Given the description of an element on the screen output the (x, y) to click on. 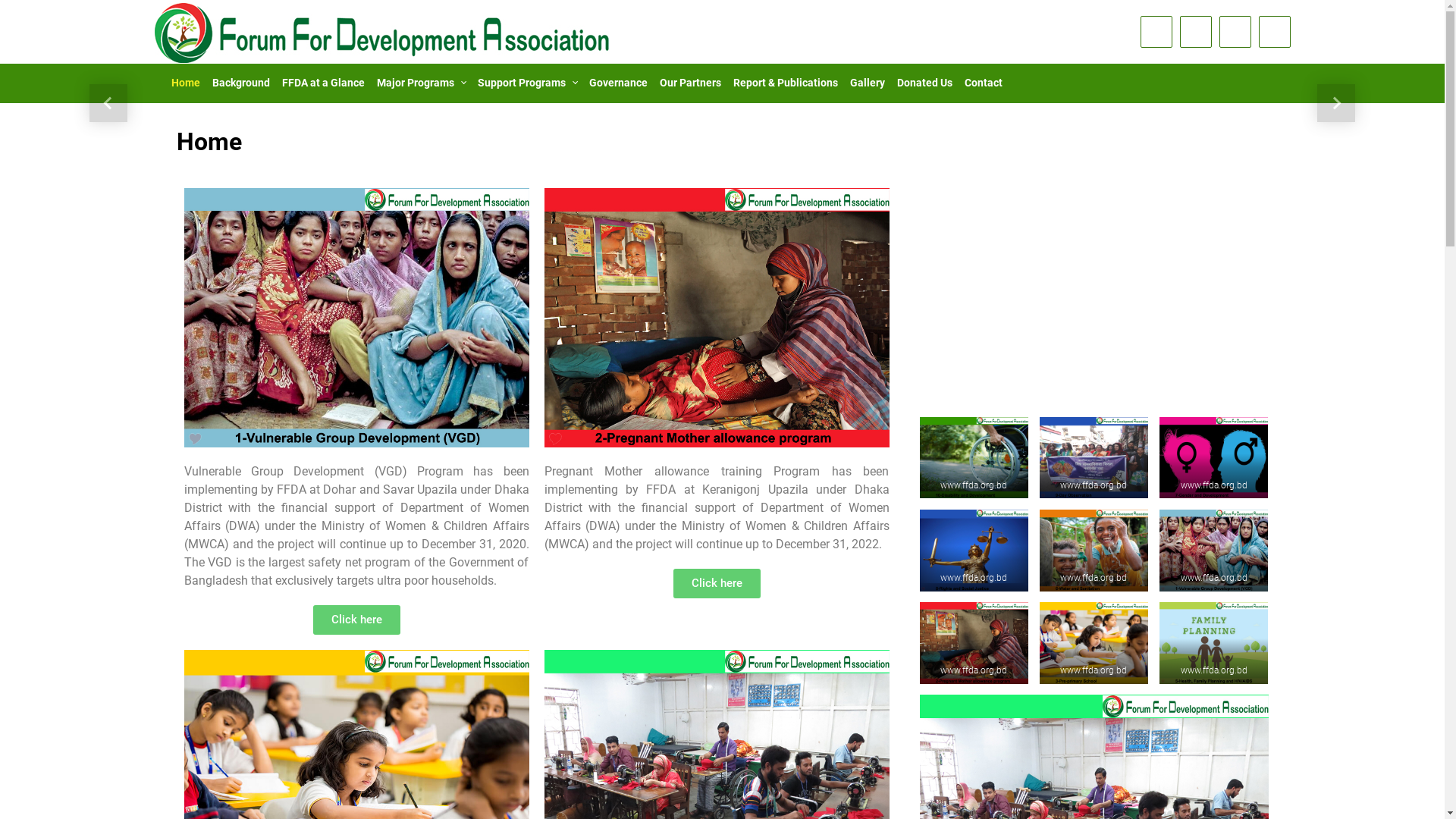
Donated Us Element type: text (924, 83)
Home Element type: text (185, 83)
Contact Element type: text (983, 83)
Background Element type: text (241, 83)
Our Partners Element type: text (690, 83)
Governance Element type: text (618, 83)
FFDA at a Glance Element type: text (323, 83)
Gallery Element type: text (867, 83)
Major Programs Element type: text (420, 83)
Support Programs Element type: text (527, 83)
Click here Element type: text (355, 619)
Report & Publications Element type: text (785, 83)
Click here Element type: text (716, 583)
